Given the description of an element on the screen output the (x, y) to click on. 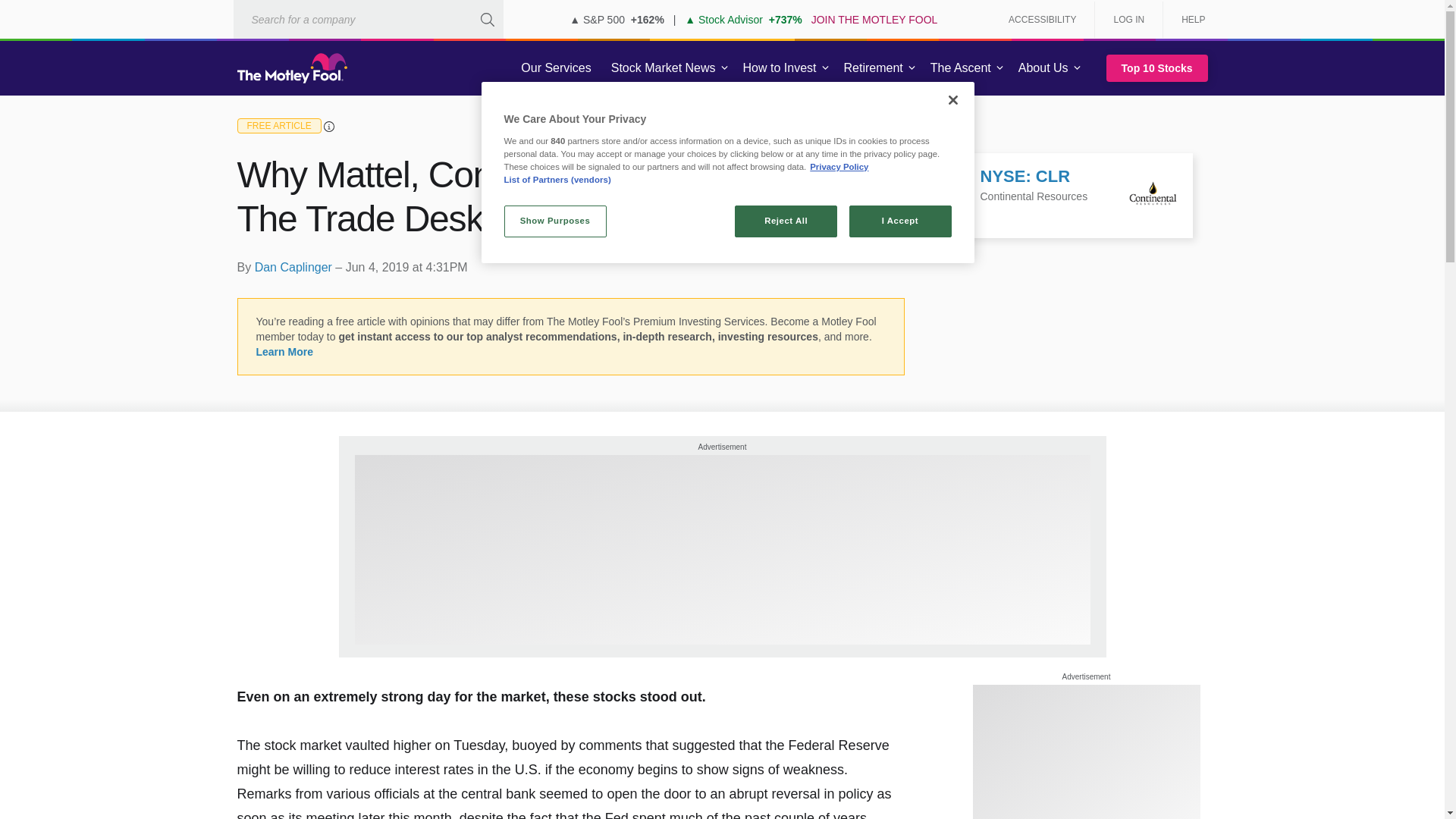
LOG IN (1128, 19)
Our Services (555, 67)
Stock Market News (662, 67)
HELP (1187, 19)
How to Invest (779, 67)
ACCESSIBILITY (1042, 19)
